Given the description of an element on the screen output the (x, y) to click on. 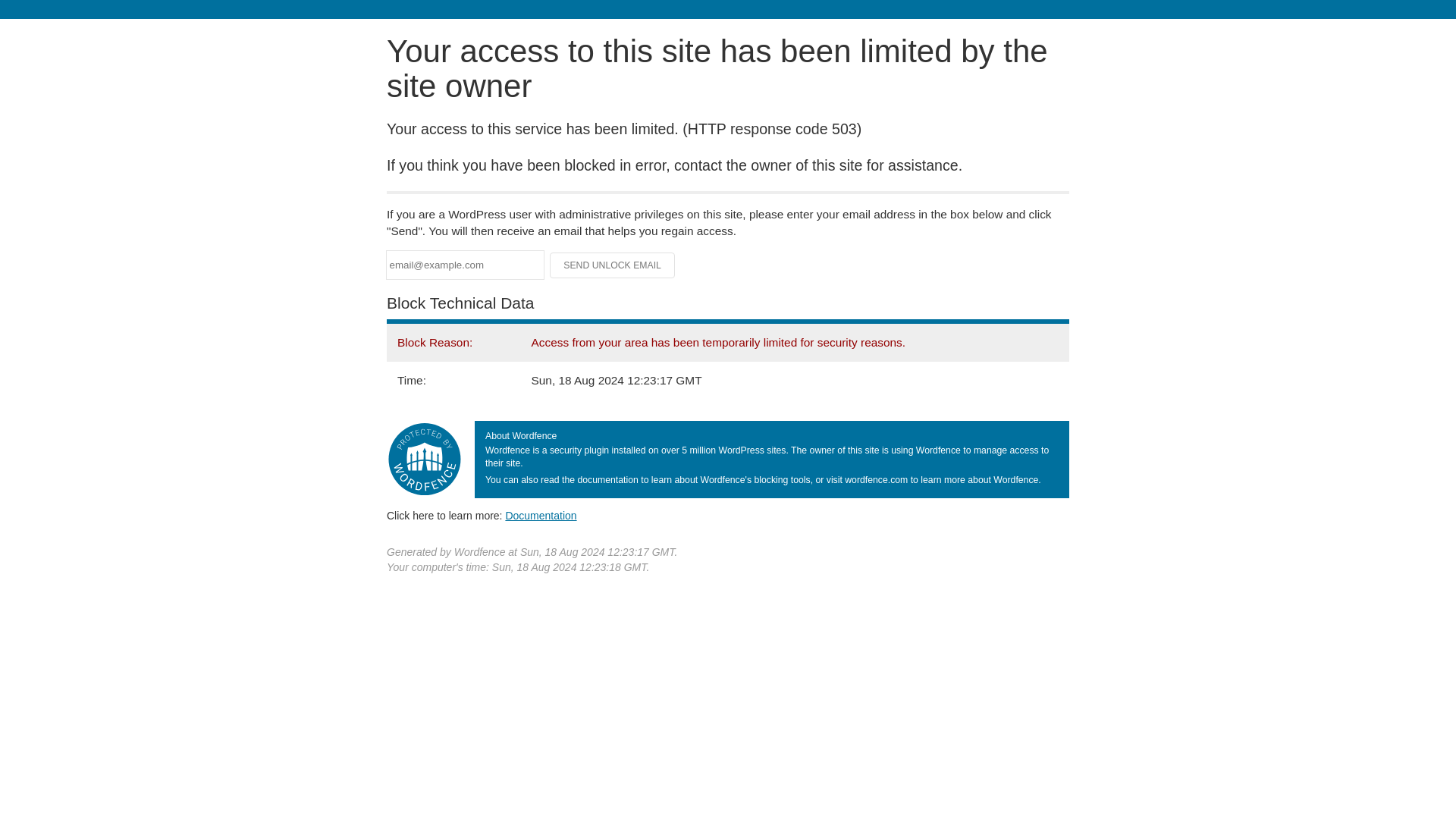
Send Unlock Email (612, 265)
Documentation (540, 515)
Send Unlock Email (612, 265)
